Given the description of an element on the screen output the (x, y) to click on. 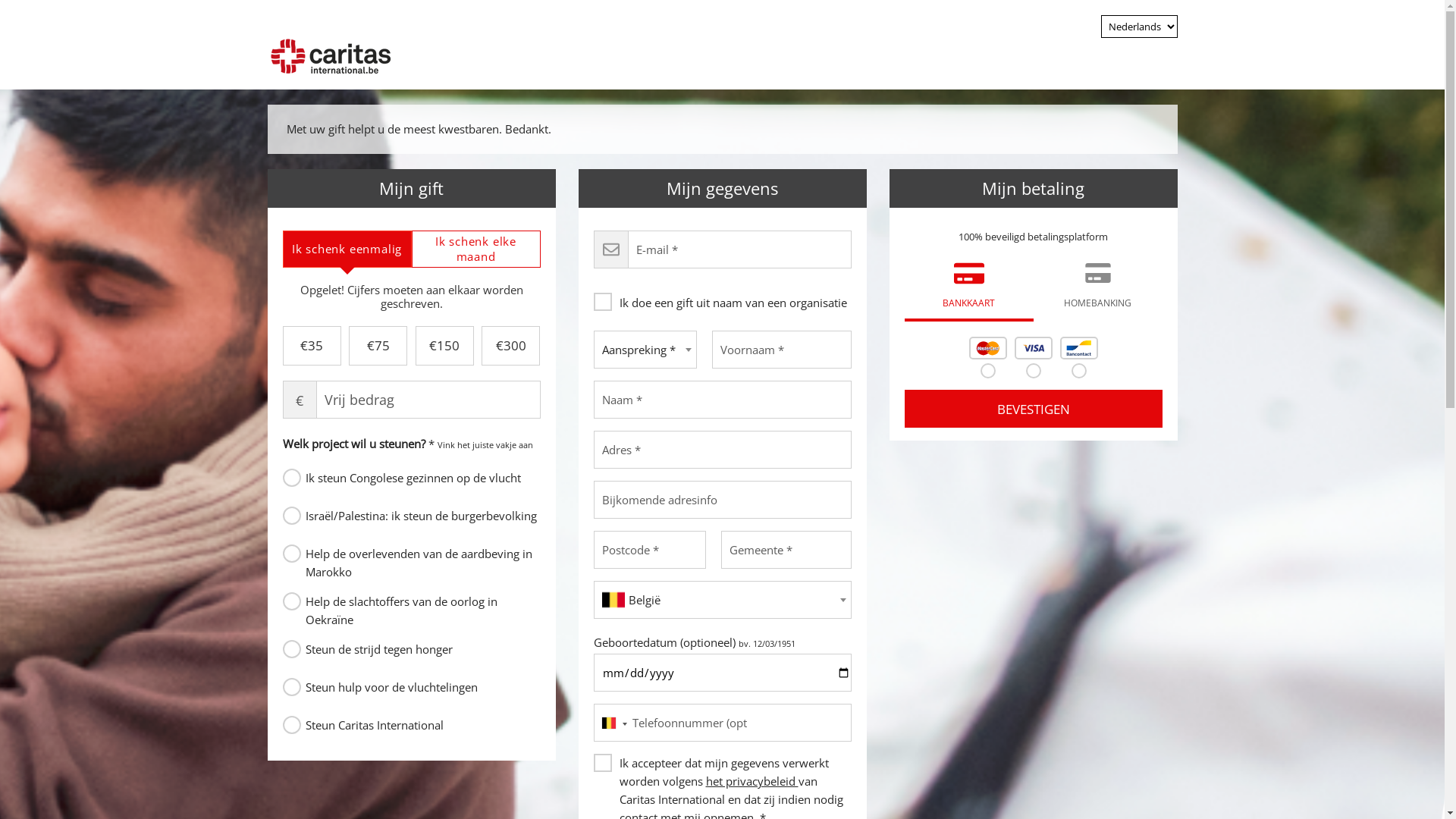
het privacybeleid Element type: text (751, 780)
Ik schenk elke maand Element type: text (475, 248)
Bevestigen Element type: text (1032, 408)
Ik schenk eenmalig Element type: text (347, 248)
